Given the description of an element on the screen output the (x, y) to click on. 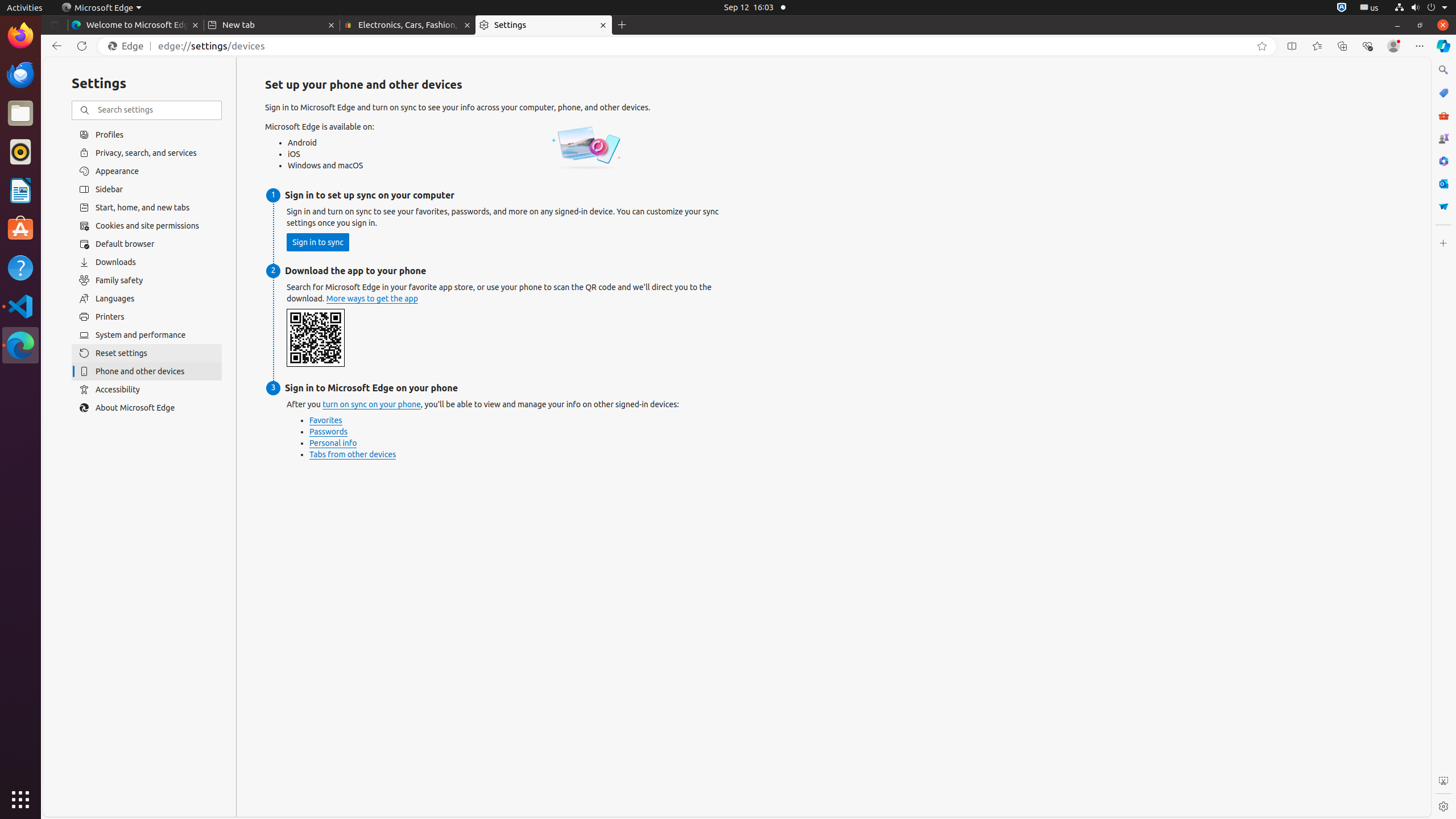
:1.72/StatusNotifierItem Element type: menu (1341, 7)
Rhythmbox Element type: push-button (20, 151)
Microsoft 365 Element type: push-button (1443, 160)
Customize Element type: push-button (1443, 243)
iOS Element type: list-item (328, 153)
